Given the description of an element on the screen output the (x, y) to click on. 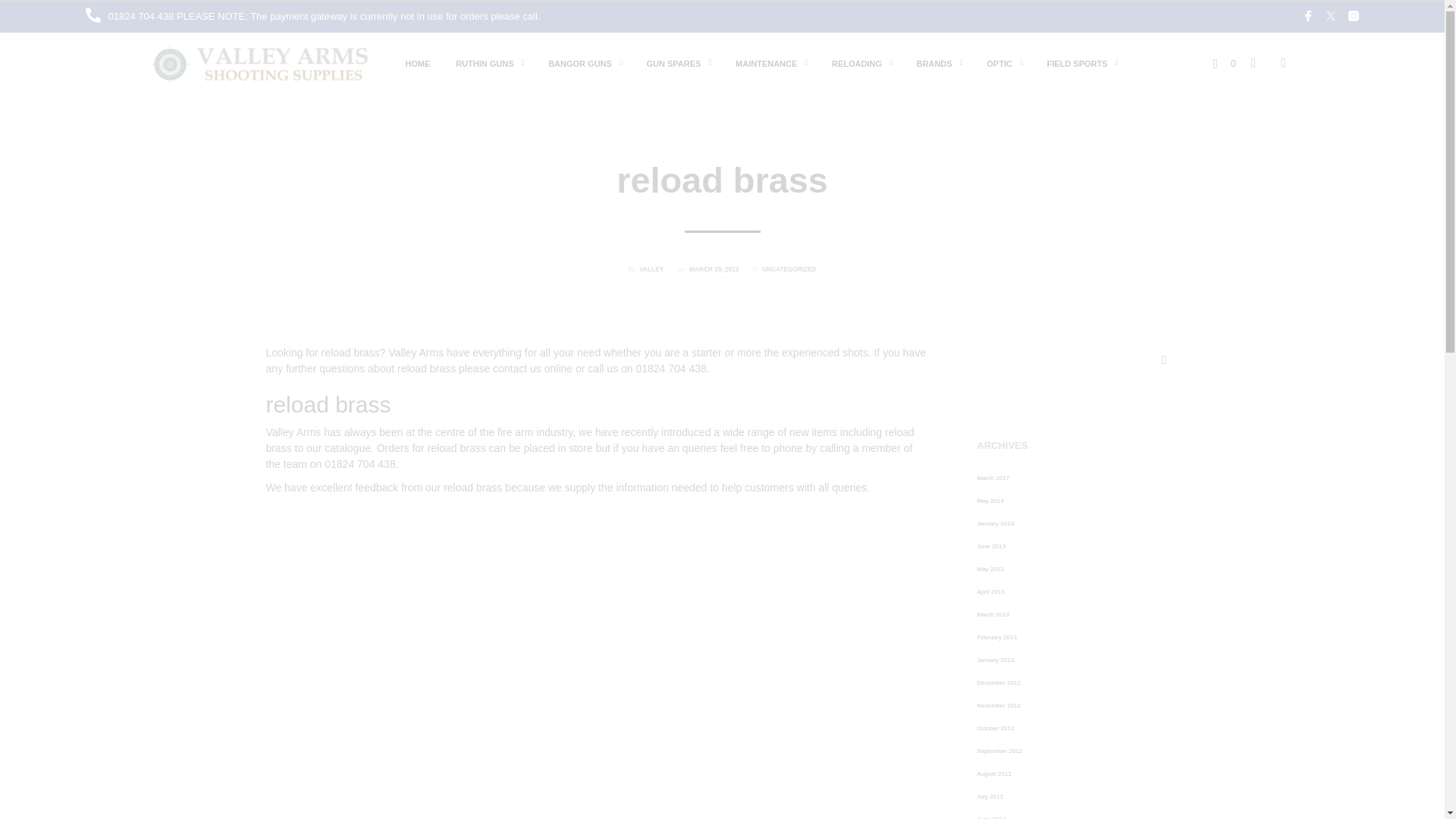
0 (1224, 62)
HOME (418, 63)
Search (1163, 359)
View all posts by valley (651, 271)
01824 704 438 (141, 16)
Permalink to reload brass (713, 271)
Search (1163, 359)
RUTHIN GUNS (484, 63)
